Given the description of an element on the screen output the (x, y) to click on. 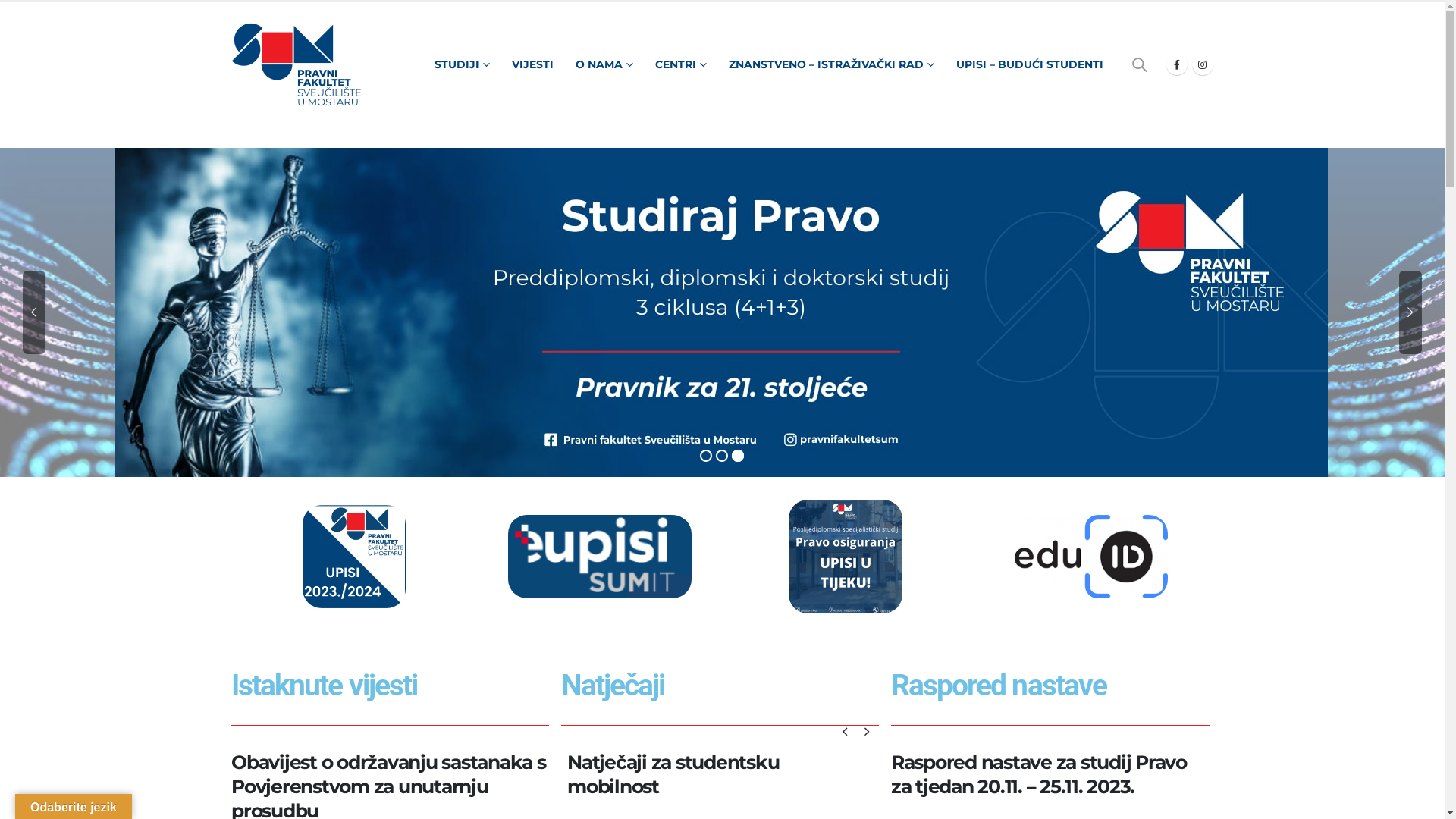
Instagram Element type: hover (1202, 64)
VIJESTI Element type: text (531, 64)
CENTRI Element type: text (680, 64)
Istaknute vijesti Element type: text (323, 685)
Raspored nastave Element type: text (998, 685)
Facebook Element type: hover (1176, 64)
STUDIJI Element type: text (461, 64)
O NAMA Element type: text (603, 64)
